Given the description of an element on the screen output the (x, y) to click on. 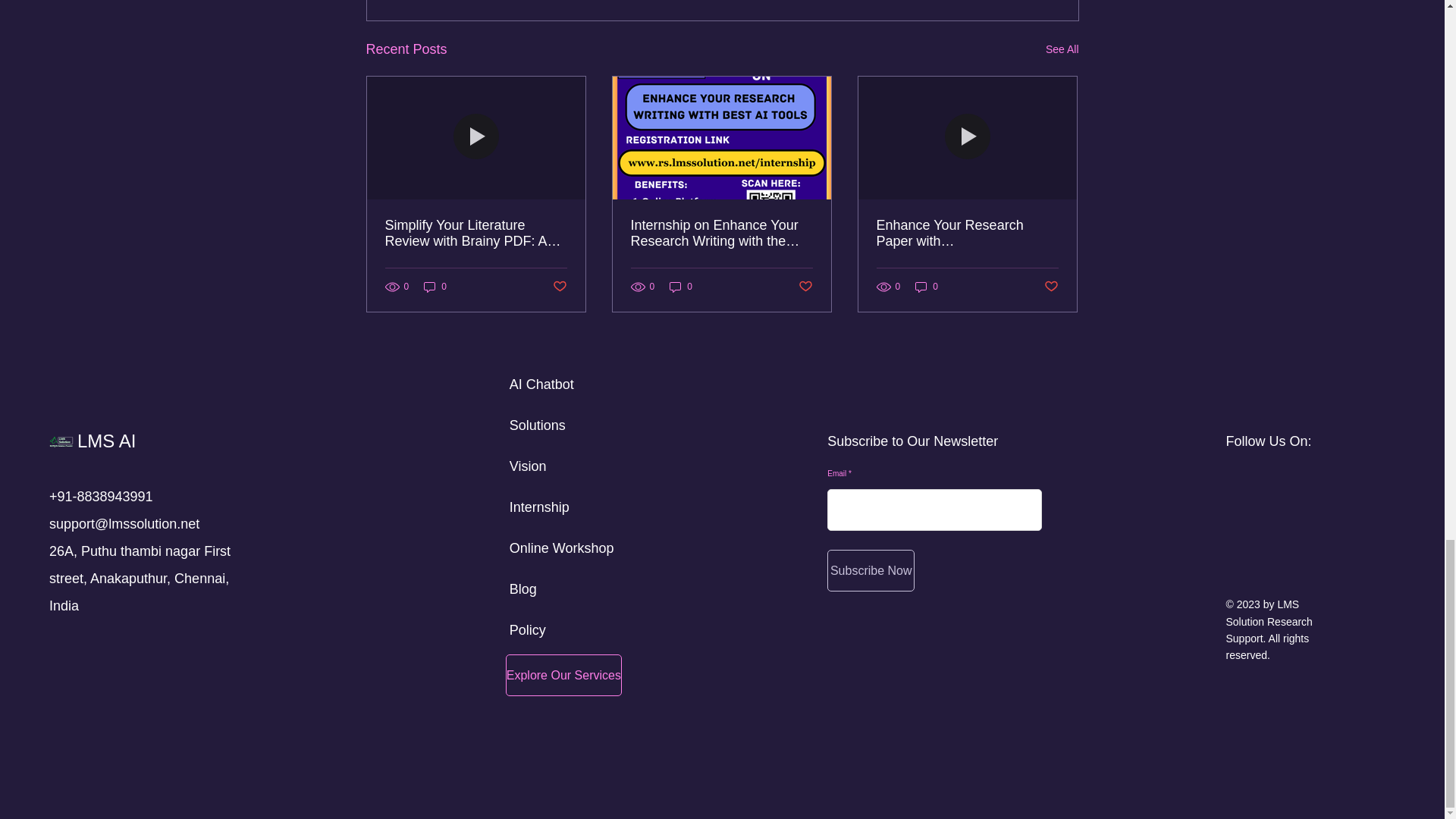
See All (1061, 49)
Post not marked as liked (1050, 286)
Post not marked as liked (804, 286)
Post not marked as liked (558, 286)
0 (926, 287)
0 (435, 287)
0 (681, 287)
AI Chatbot (541, 384)
